Given the description of an element on the screen output the (x, y) to click on. 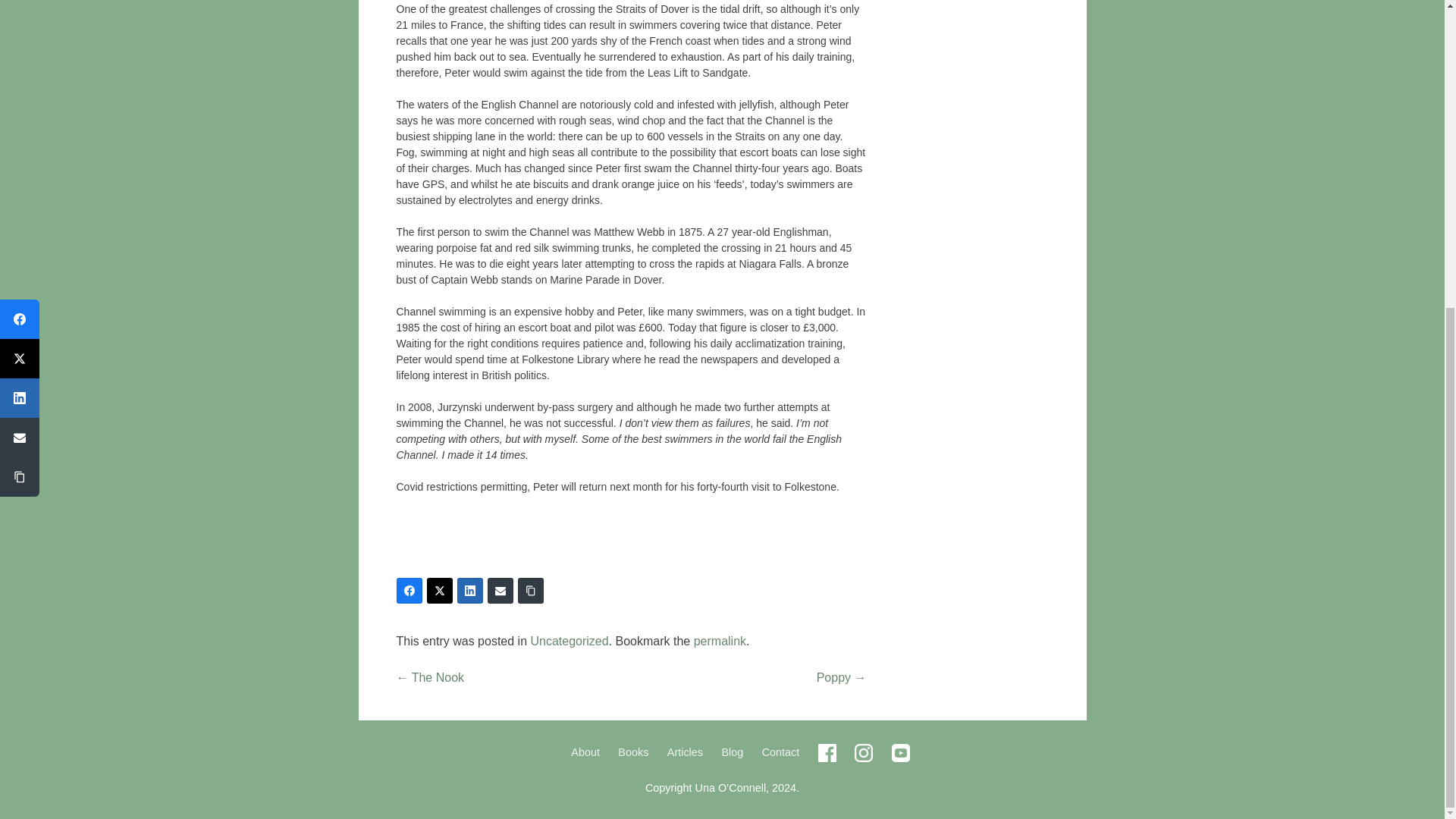
Articles (684, 752)
permalink (719, 640)
Books (632, 752)
Uncategorized (568, 640)
Contact (780, 752)
Blog (731, 752)
About (584, 752)
